Given the description of an element on the screen output the (x, y) to click on. 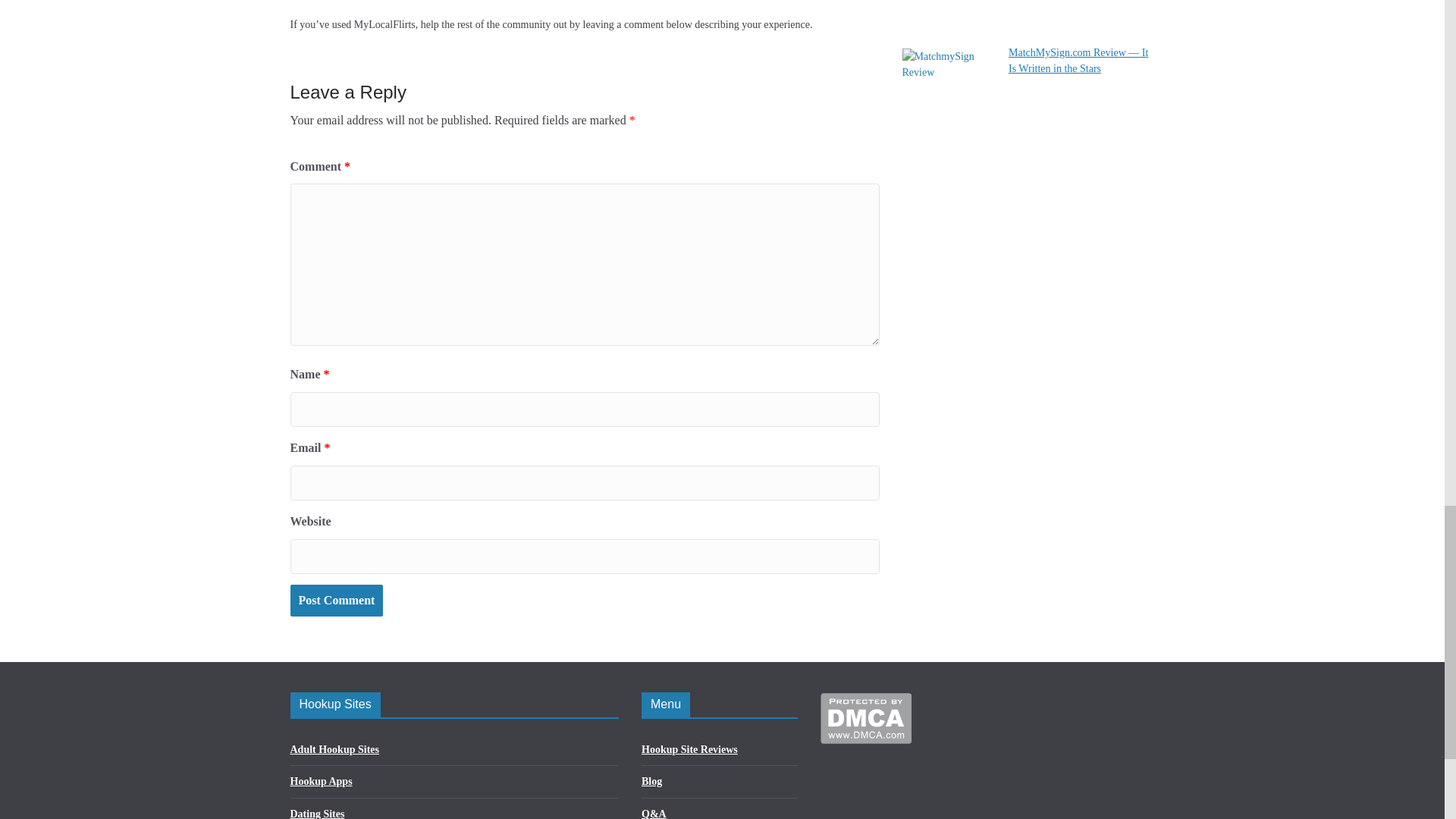
Post Comment (335, 600)
Post Comment (335, 600)
DMCA.com Protection Status (866, 701)
